Given the description of an element on the screen output the (x, y) to click on. 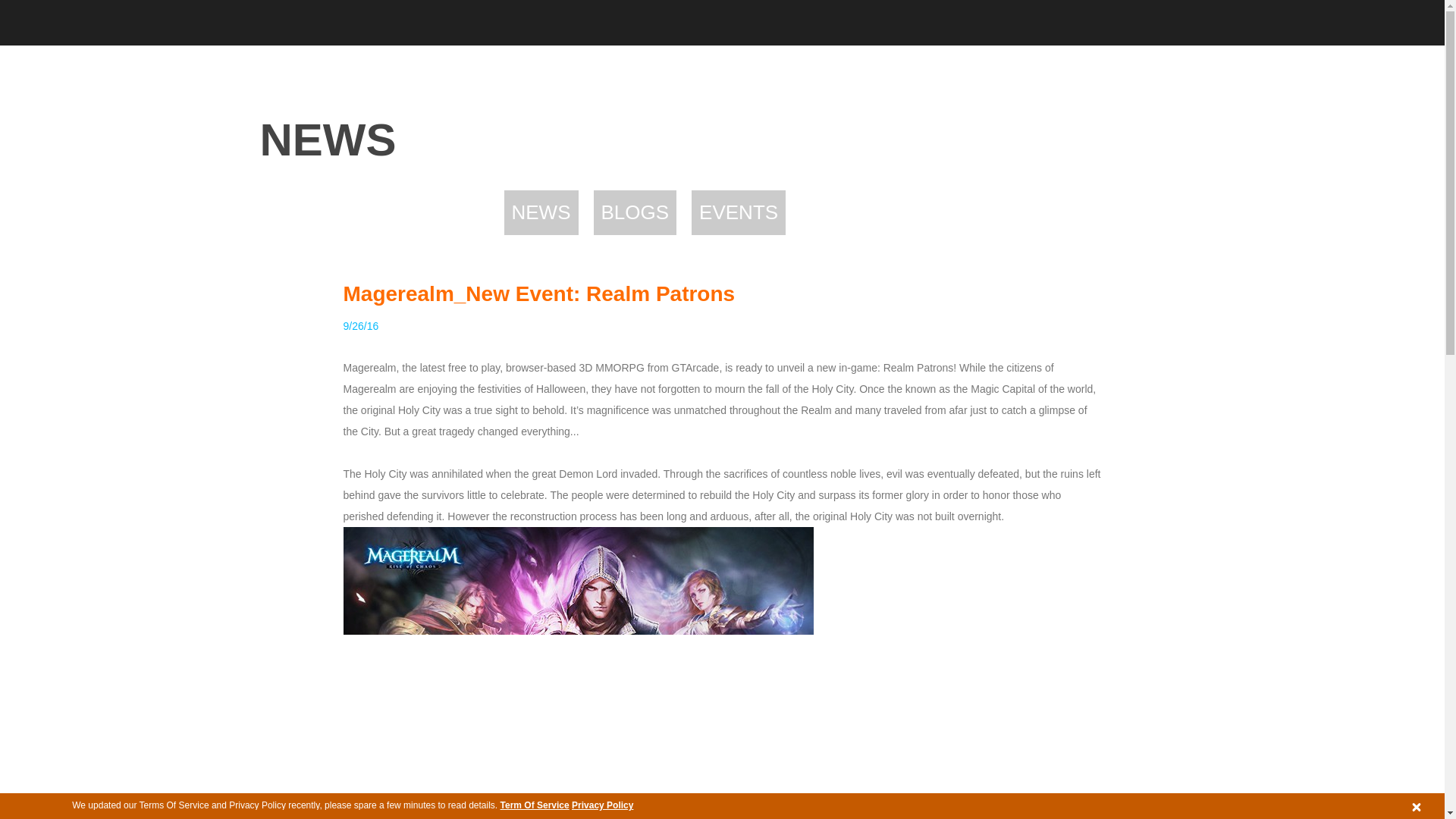
Term Of Service (534, 804)
Privacy Policy (602, 804)
EVENTS (738, 212)
NEWS (540, 212)
BLOGS (634, 212)
